Given the description of an element on the screen output the (x, y) to click on. 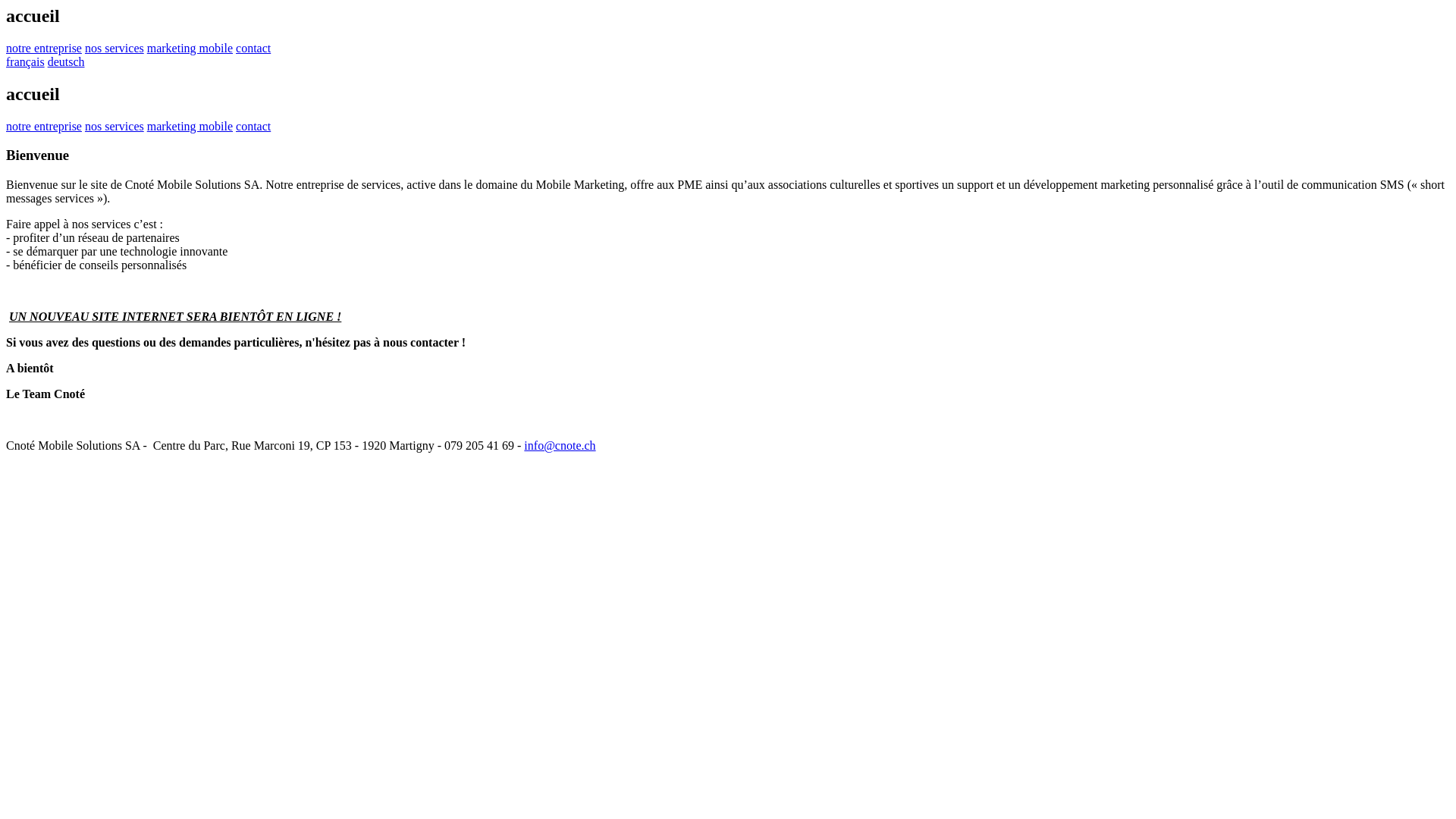
contact Element type: text (252, 125)
nos services Element type: text (114, 125)
deutsch Element type: text (65, 61)
marketing mobile Element type: text (189, 125)
notre entreprise Element type: text (43, 125)
notre entreprise Element type: text (43, 47)
nos services Element type: text (114, 47)
contact Element type: text (252, 47)
info@cnote.ch Element type: text (559, 445)
marketing mobile Element type: text (189, 47)
